Given the description of an element on the screen output the (x, y) to click on. 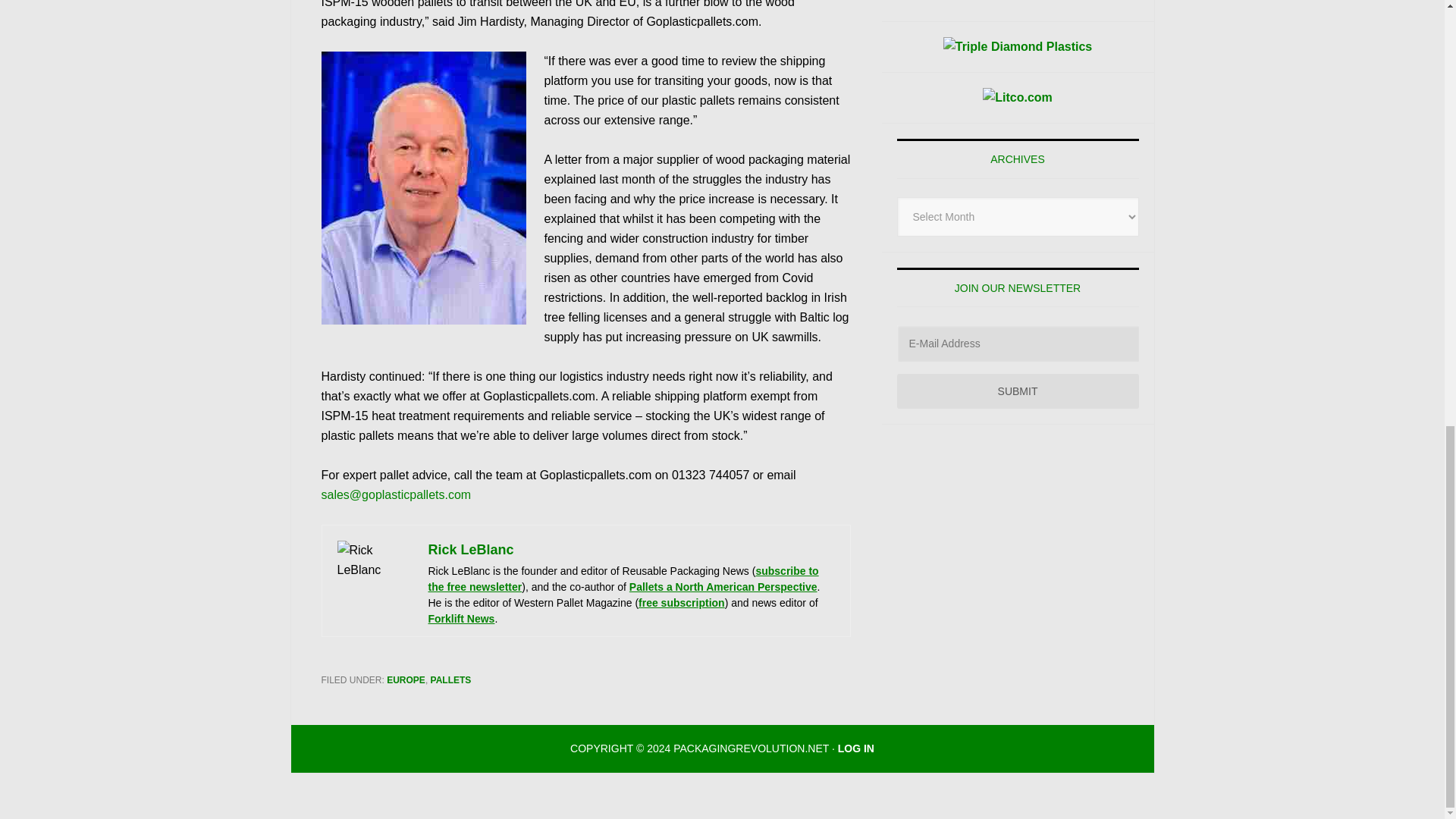
PALLETS (450, 679)
Forklift News (461, 618)
Pallets a North American Perspective (722, 586)
EUROPE (406, 679)
Rick LeBlanc (470, 549)
subscribe to the free newsletter (623, 578)
free subscription (682, 603)
SUBMIT (1017, 390)
